Given the description of an element on the screen output the (x, y) to click on. 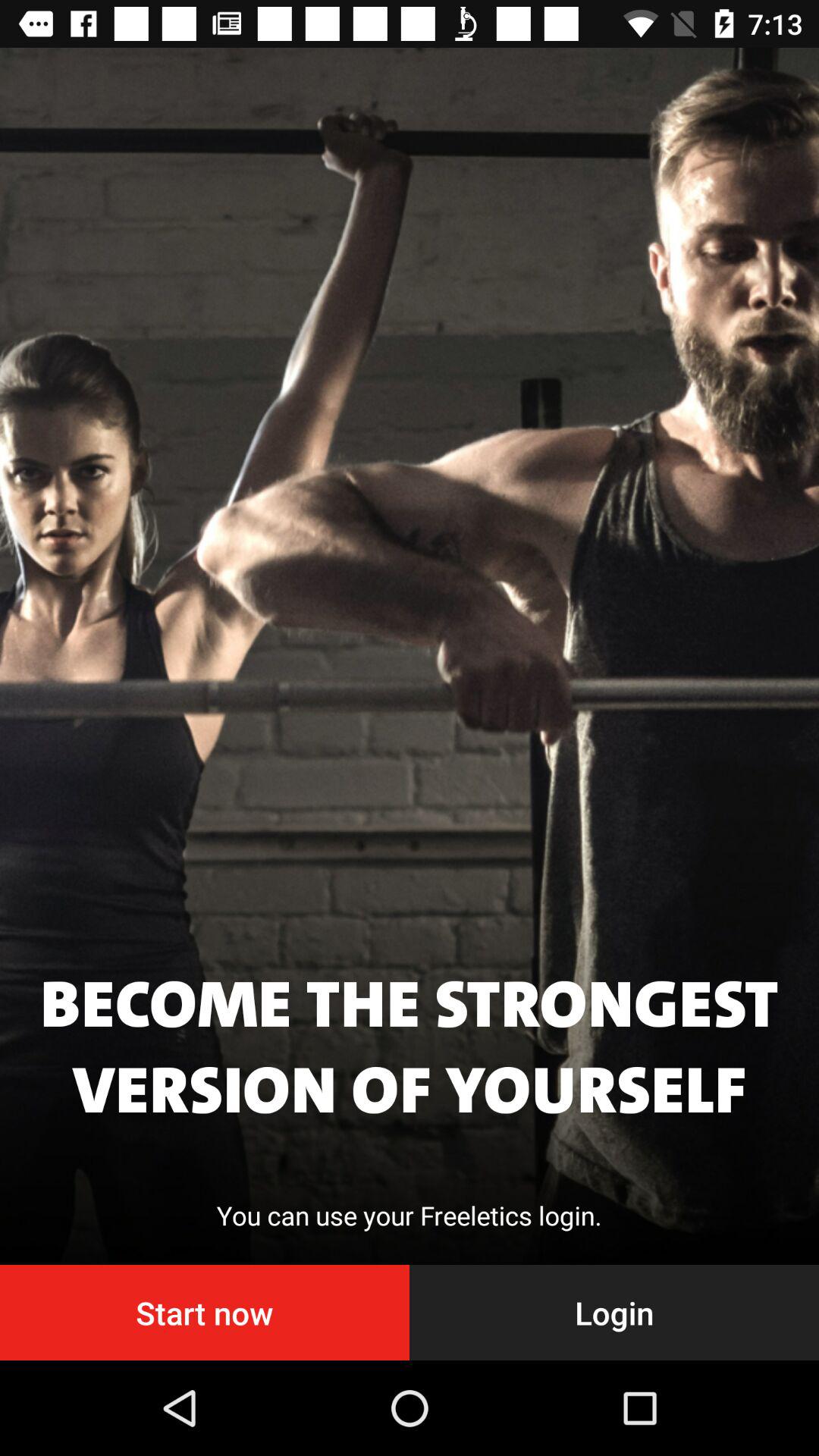
jump until the start now item (204, 1312)
